Given the description of an element on the screen output the (x, y) to click on. 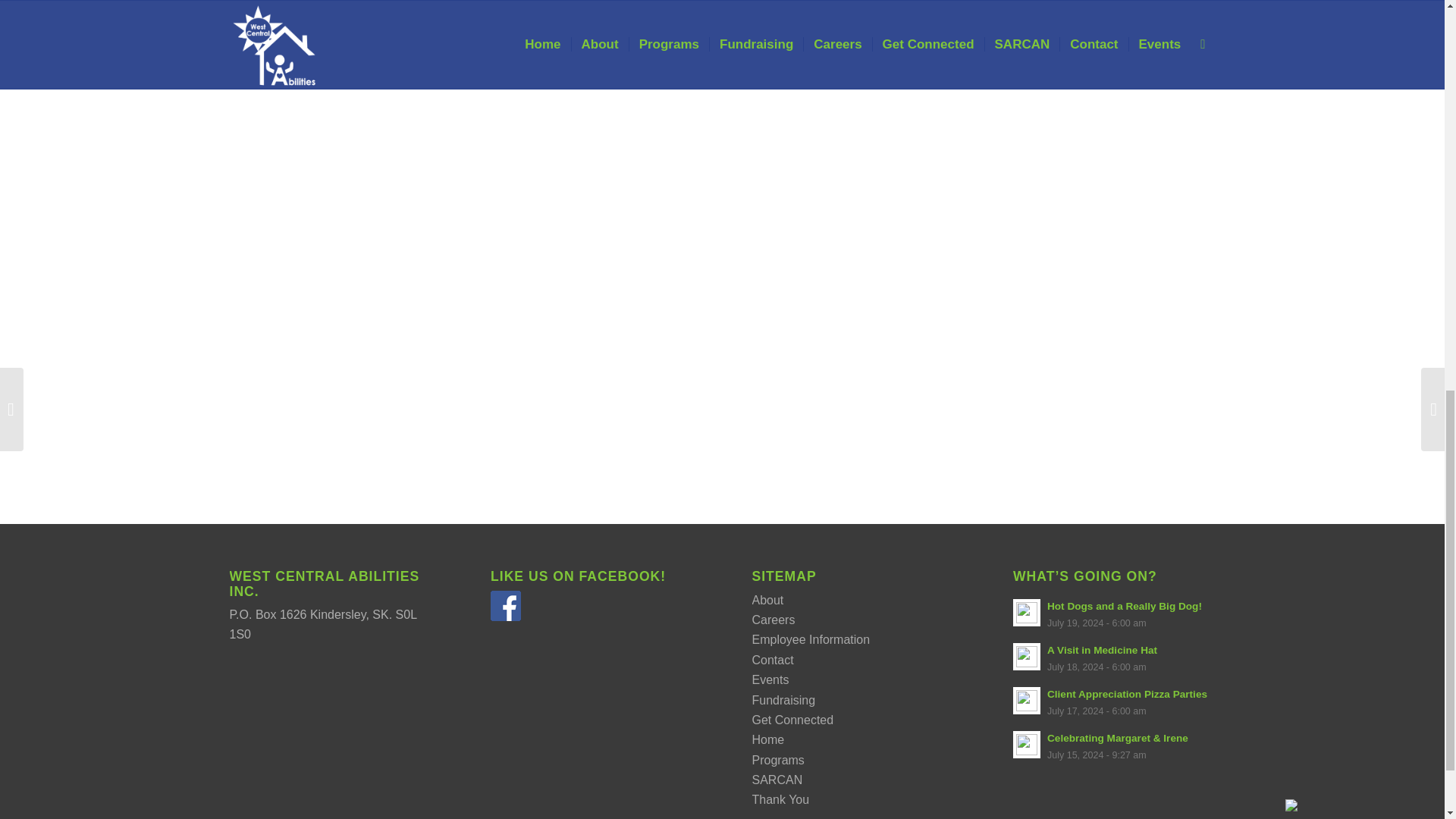
SITEMAP (784, 575)
